Given the description of an element on the screen output the (x, y) to click on. 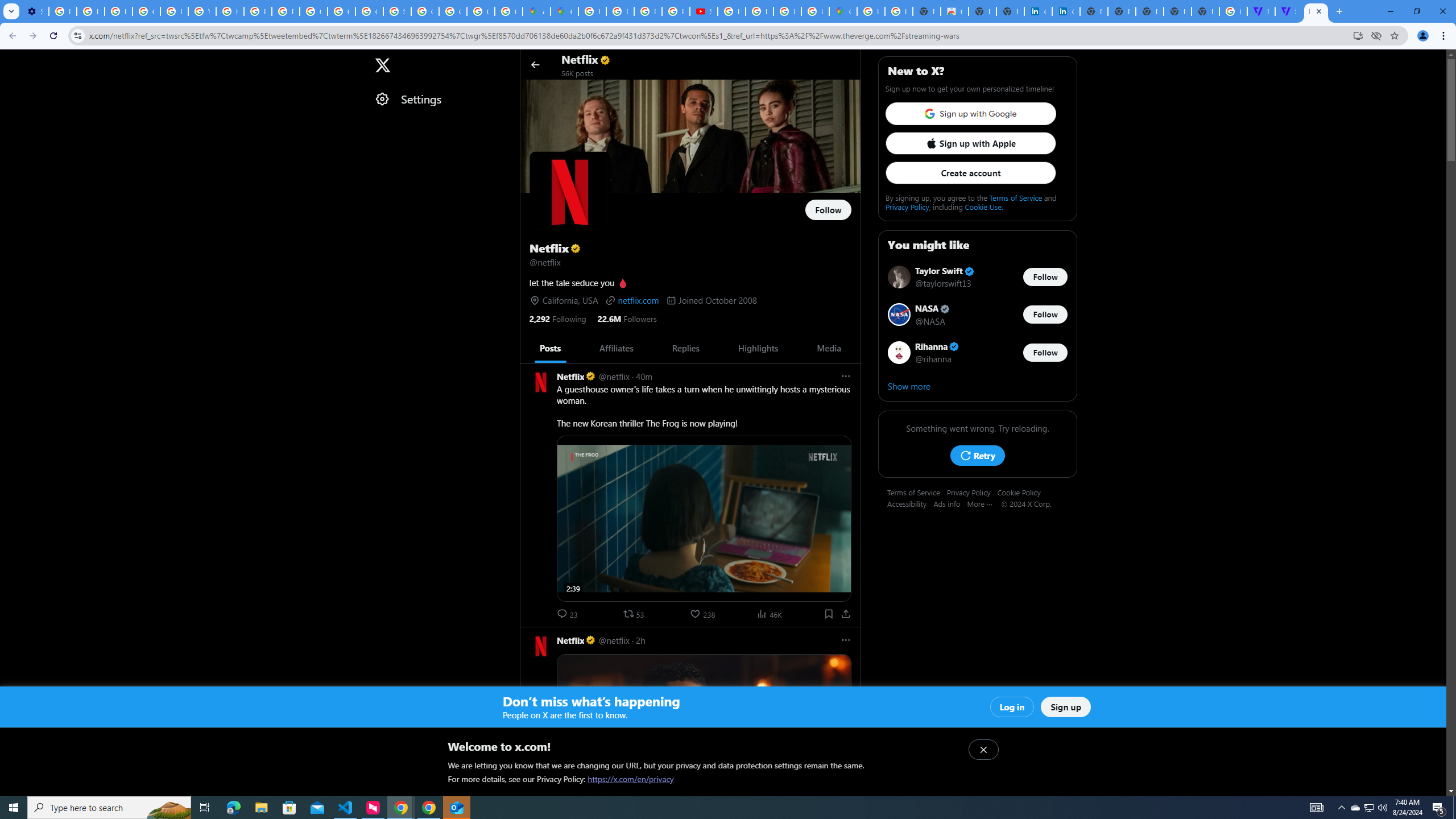
Log in (1012, 706)
How Chrome protects your passwords - Google Chrome Help (731, 11)
Previous (532, 347)
Privacy Help Center - Policies Help (257, 11)
2,292 Following (557, 318)
Blogger Policies and Guidelines - Transparency Center (592, 11)
Learn how to find your photos - Google Photos Help (90, 11)
Cookie Policy | LinkedIn (1038, 11)
Netflix (@netflix) / X (1316, 11)
Skip to home timeline (10, 59)
X (382, 65)
